Given the description of an element on the screen output the (x, y) to click on. 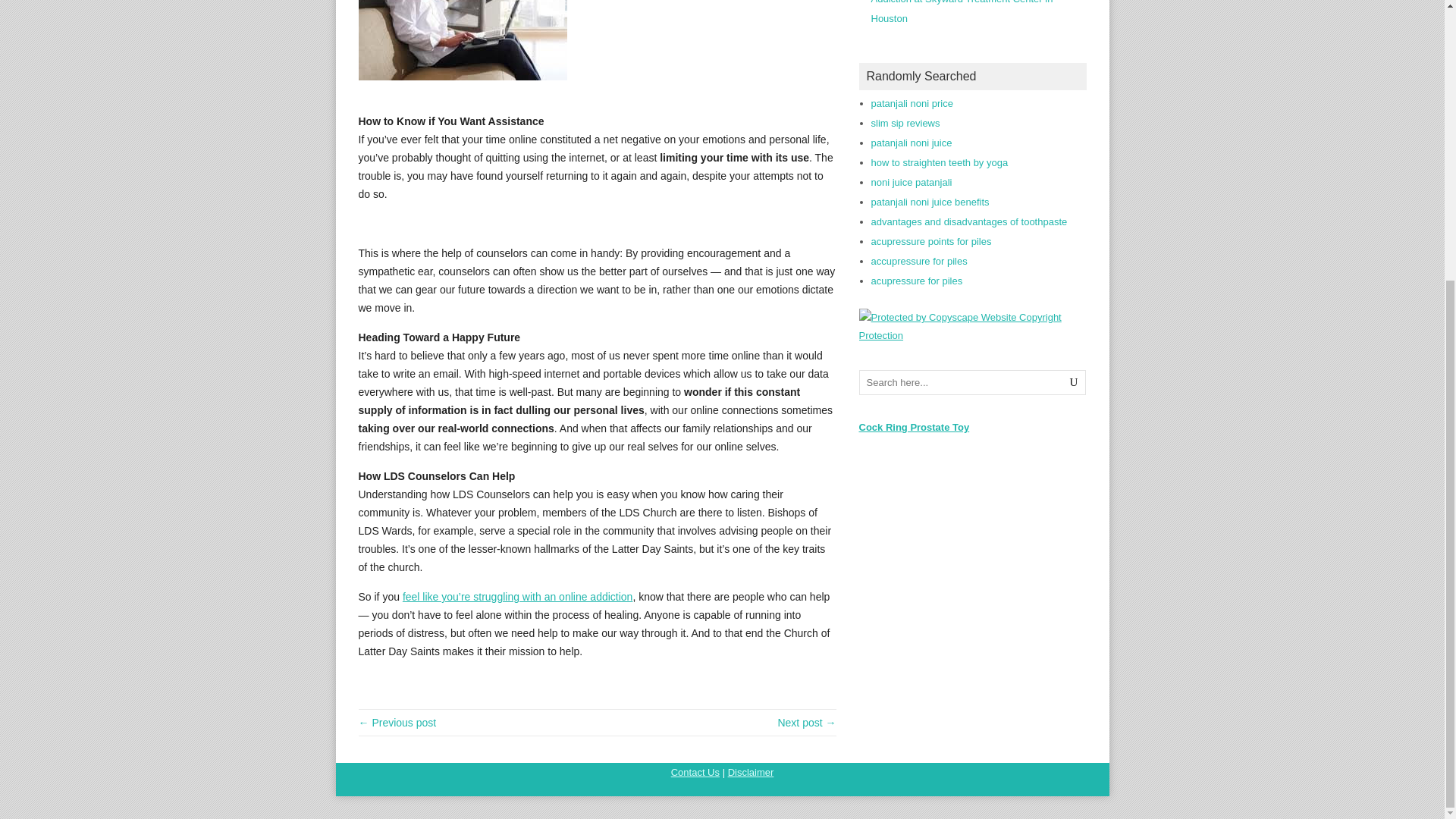
patanjali noni juice benefits (929, 202)
slim sip reviews (904, 122)
Health and safety measures To Be Taken While visiting London (806, 722)
patanjali noni price (911, 102)
Contact Us (695, 772)
patanjali noni juice (911, 142)
noni juice patanjali (911, 182)
acupressure points for piles (930, 241)
slim sip reviews (904, 122)
acupressure for piles (916, 280)
acupressure points for piles (930, 241)
advantages and disadvantages of toothpaste (968, 221)
accupressure for piles (918, 260)
U (1073, 382)
U (1073, 382)
